Given the description of an element on the screen output the (x, y) to click on. 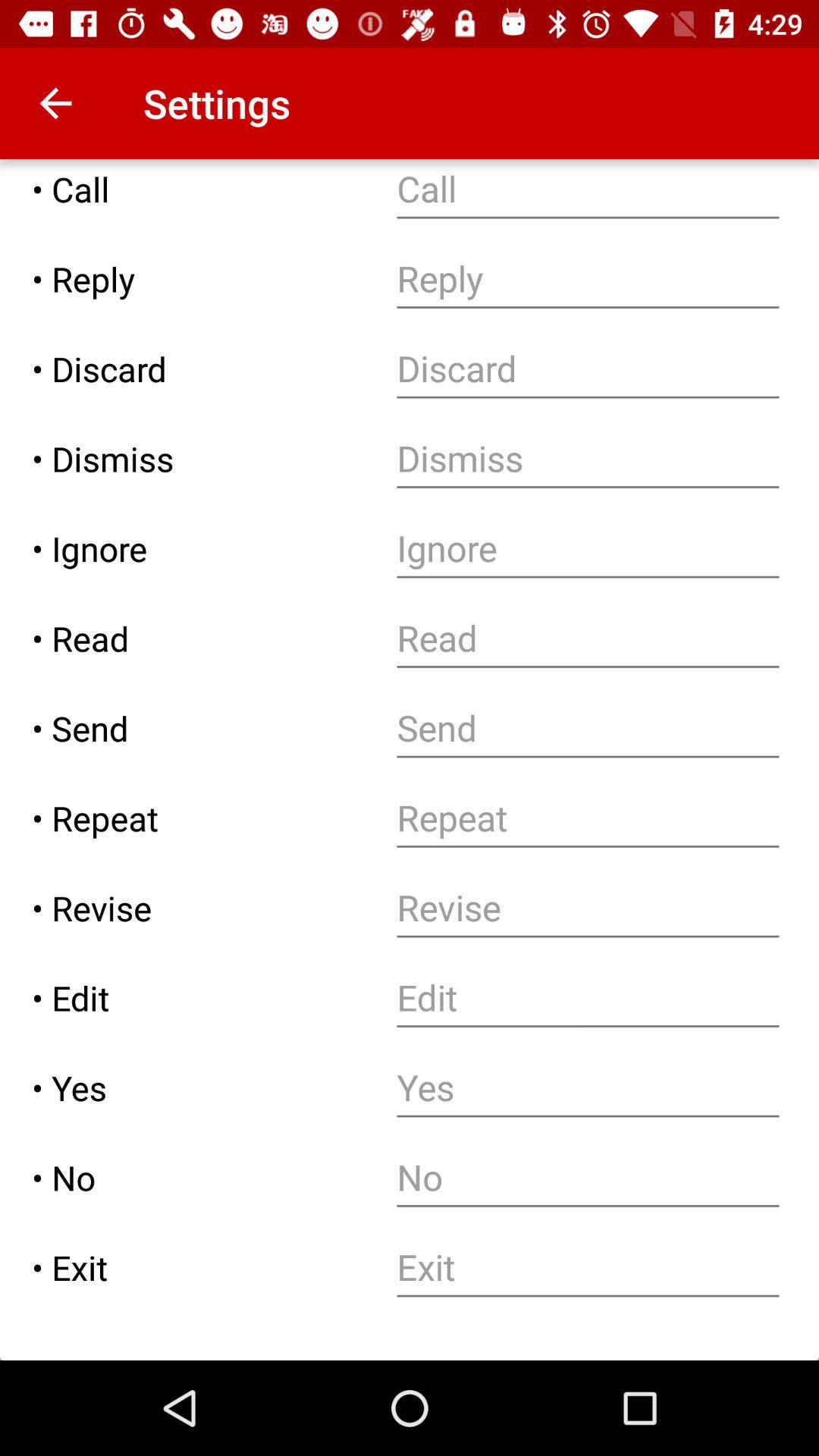
give a response (588, 279)
